Given the description of an element on the screen output the (x, y) to click on. 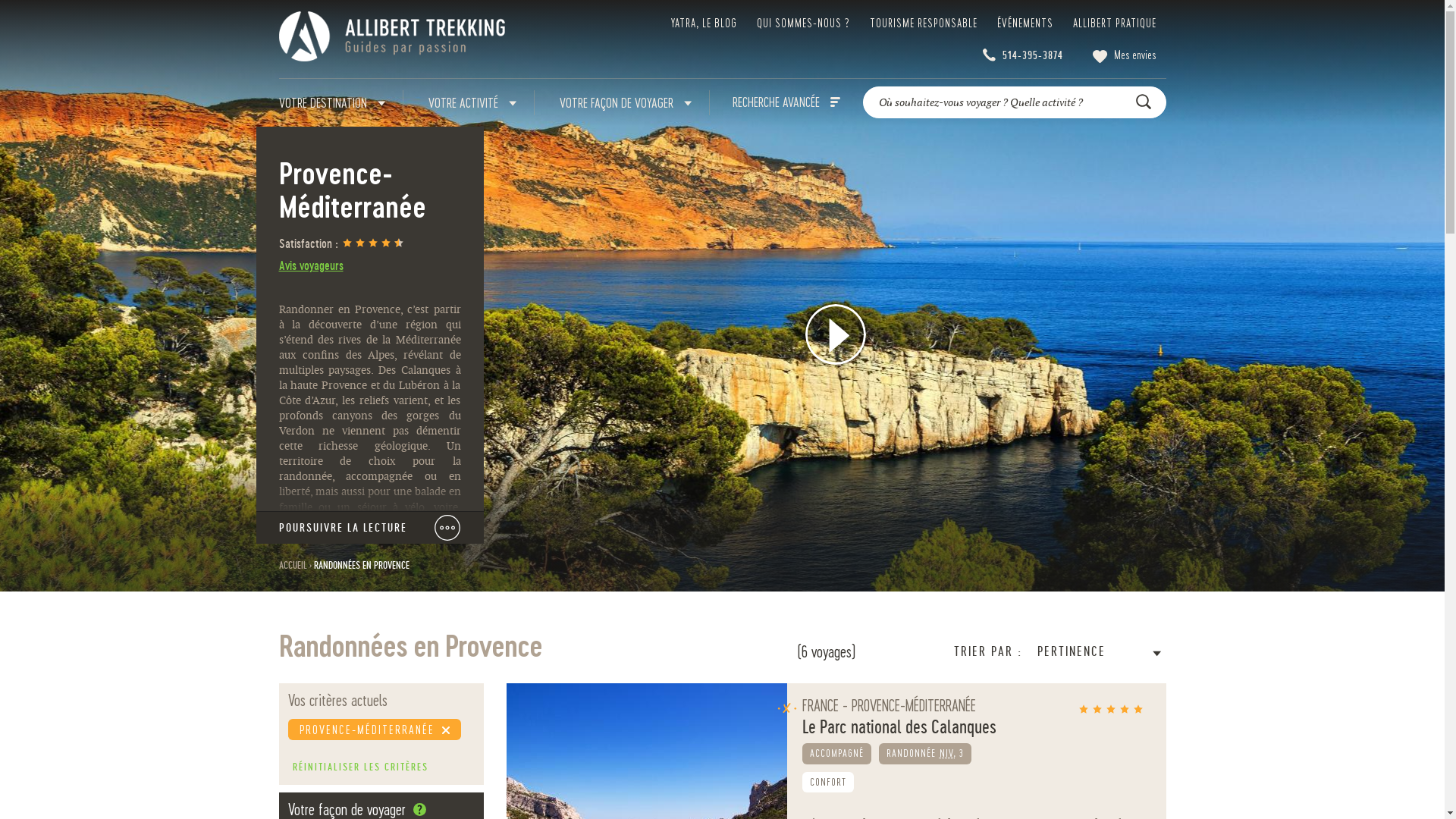
Mes envies
() Element type: text (1124, 54)
YATRA, LE BLOG Element type: text (703, 22)
Le Parc national des Calanques Element type: text (976, 726)
ACCUEIL Element type: text (293, 565)
TOURISME RESPONSABLE Element type: text (922, 22)
Lancer la recherche Element type: text (1147, 102)
514-395-3874 Element type: text (1032, 55)
QUI SOMMES-NOUS ? Element type: text (803, 22)
ALLIBERT PRATIQUE Element type: text (1113, 22)
POURSUIVRE LA LECTURE Element type: text (369, 527)
Satisfaction : 94% - Sur 324 voyageurs Element type: hover (371, 244)
Satisfaction : 99% - Sur 77 voyageurs Element type: hover (1110, 710)
VOTRE DESTINATION Element type: text (331, 102)
Avis voyageurs Element type: text (311, 266)
